Given the description of an element on the screen output the (x, y) to click on. 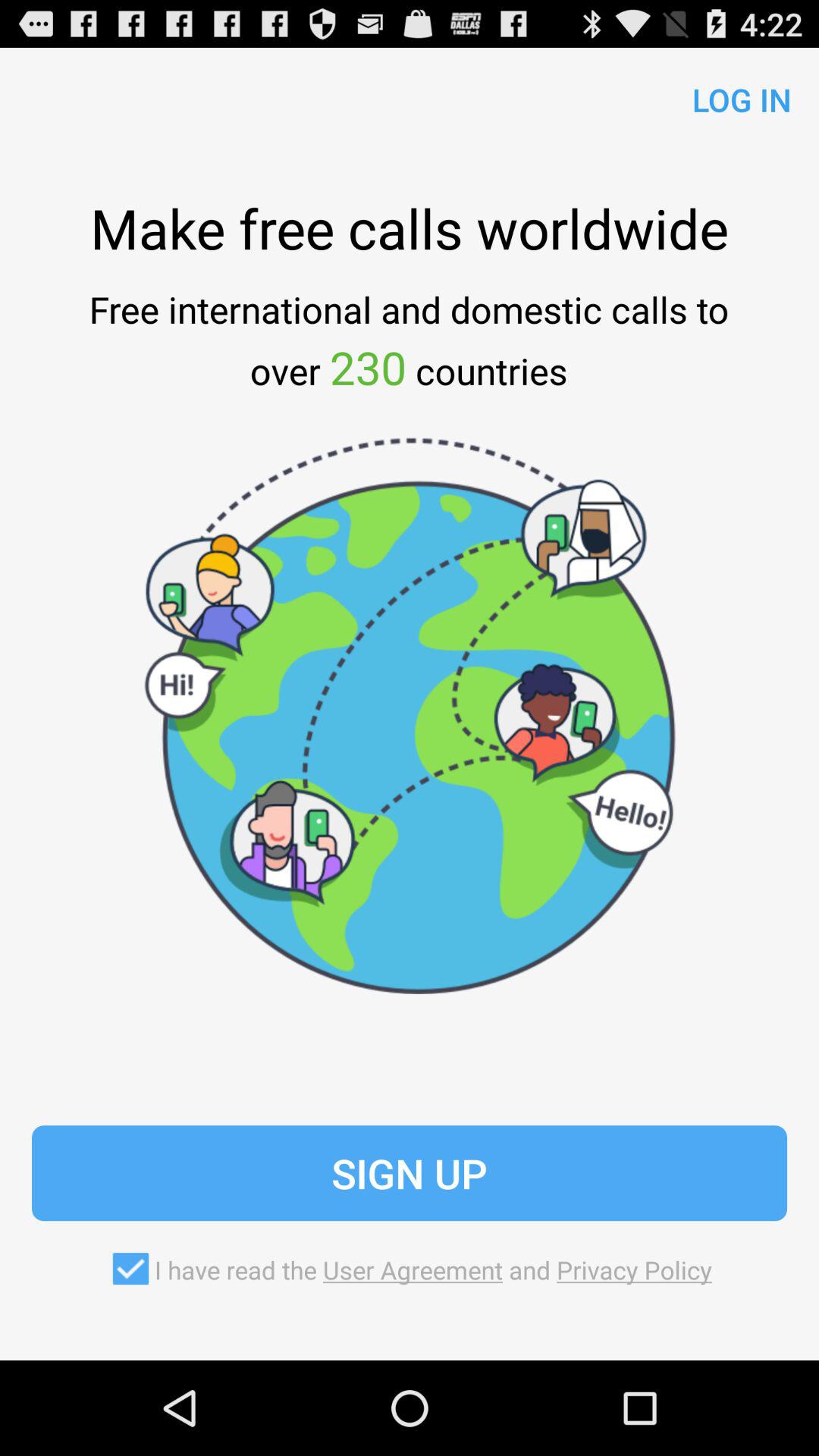
tap the item below sign up (409, 1268)
